Given the description of an element on the screen output the (x, y) to click on. 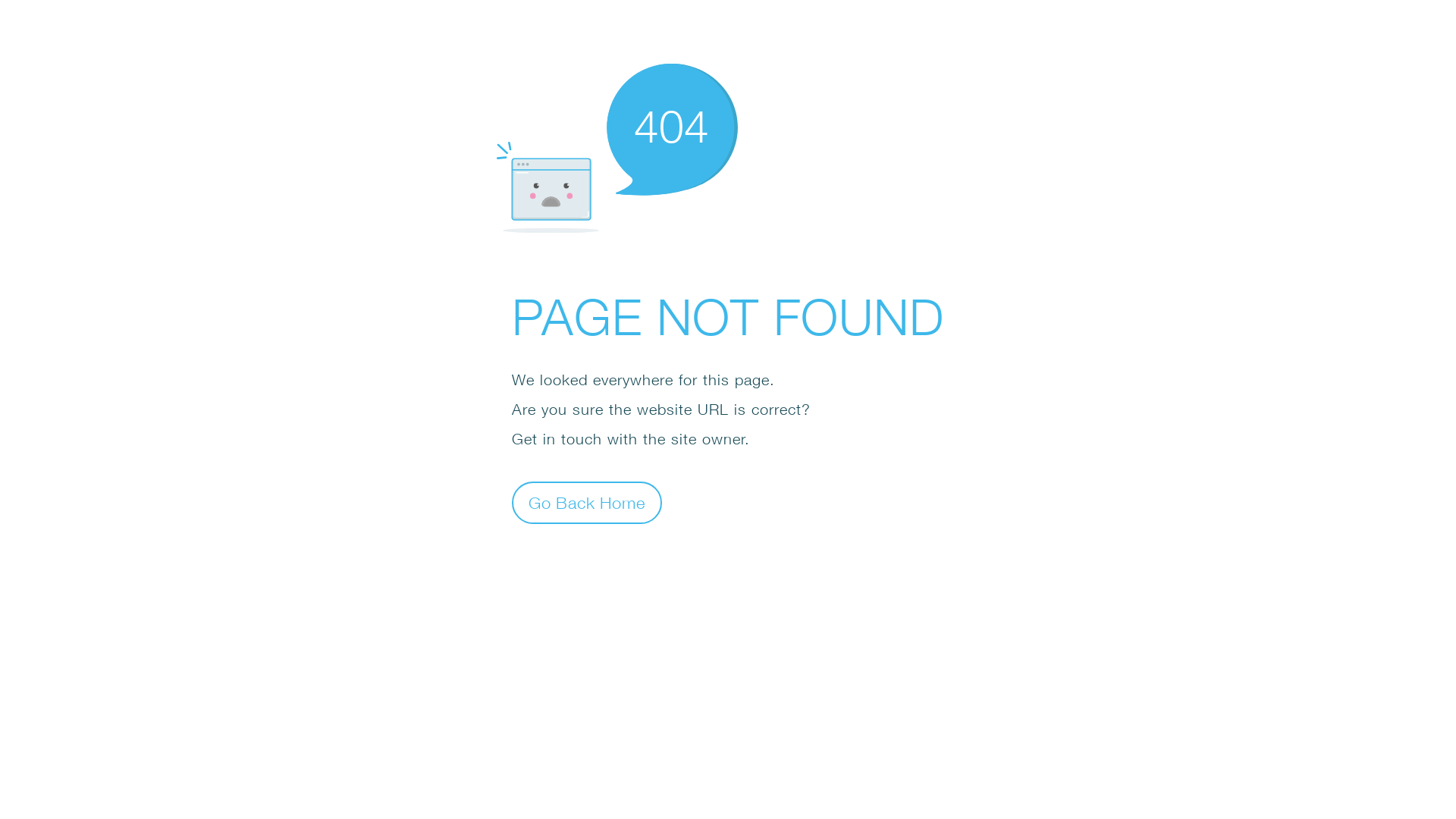
Go Back Home Element type: text (586, 502)
